Given the description of an element on the screen output the (x, y) to click on. 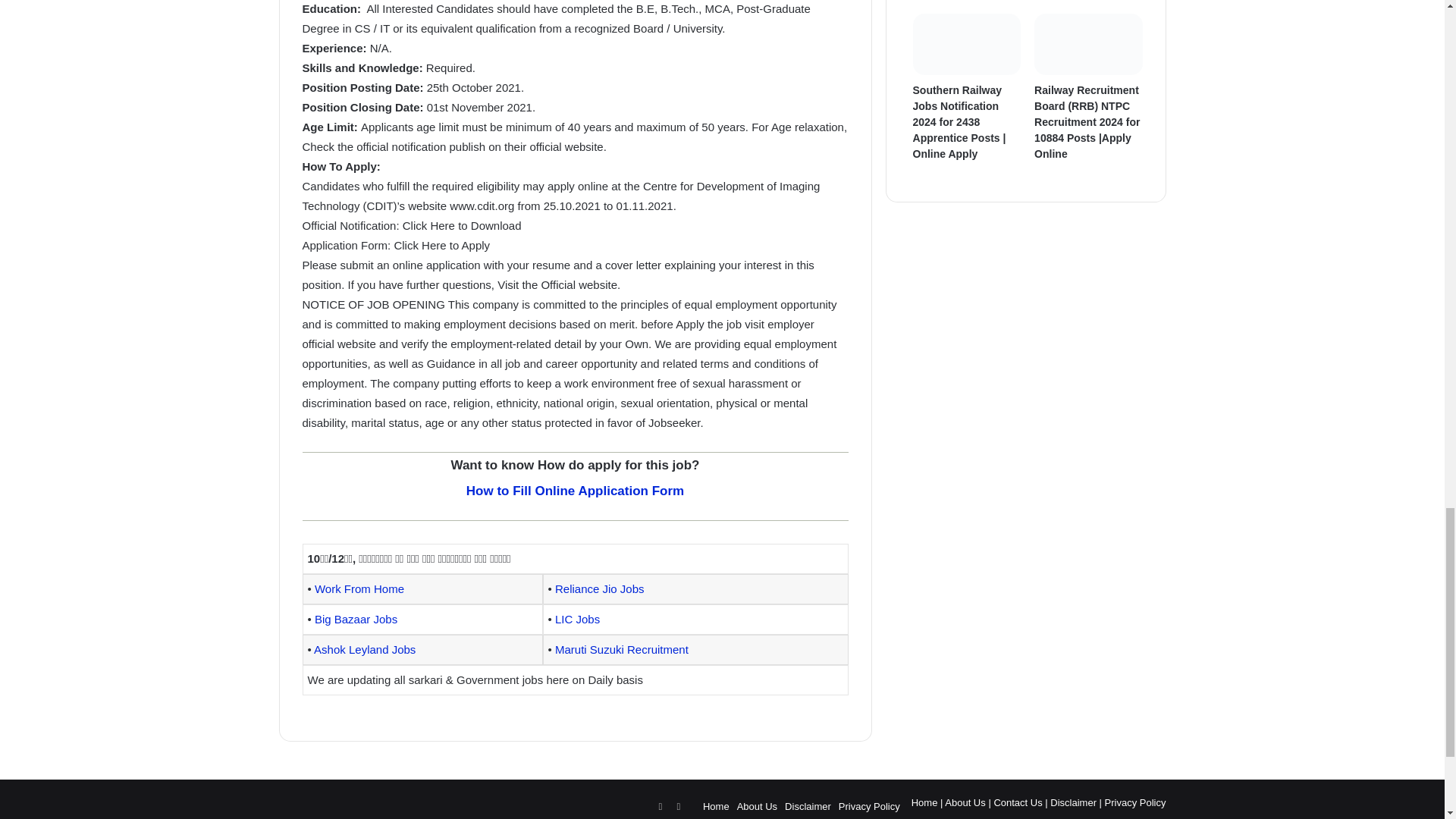
How to Fill Online Application Form (574, 490)
Reliance Jio Jobs (599, 588)
Big Bazaar Jobs (355, 618)
Maruti Suzuki Recruitment (621, 649)
LIC Jobs (576, 618)
Ashok Leyland Jobs (364, 649)
Work From Home (359, 588)
